Given the description of an element on the screen output the (x, y) to click on. 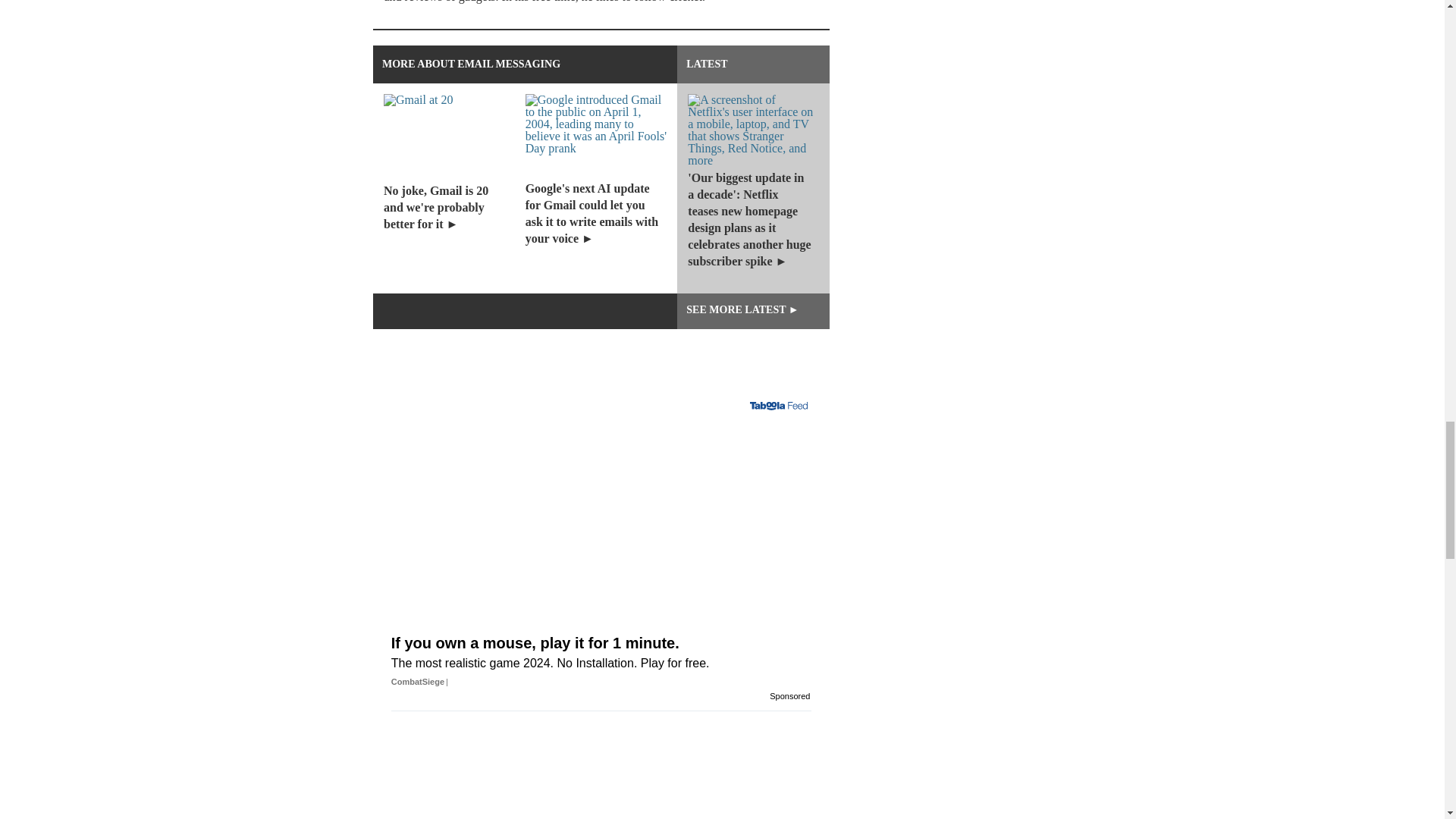
If you own a mouse, play it for 1 minute. (600, 528)
If you own a mouse, play it for 1 minute. (600, 667)
